Given the description of an element on the screen output the (x, y) to click on. 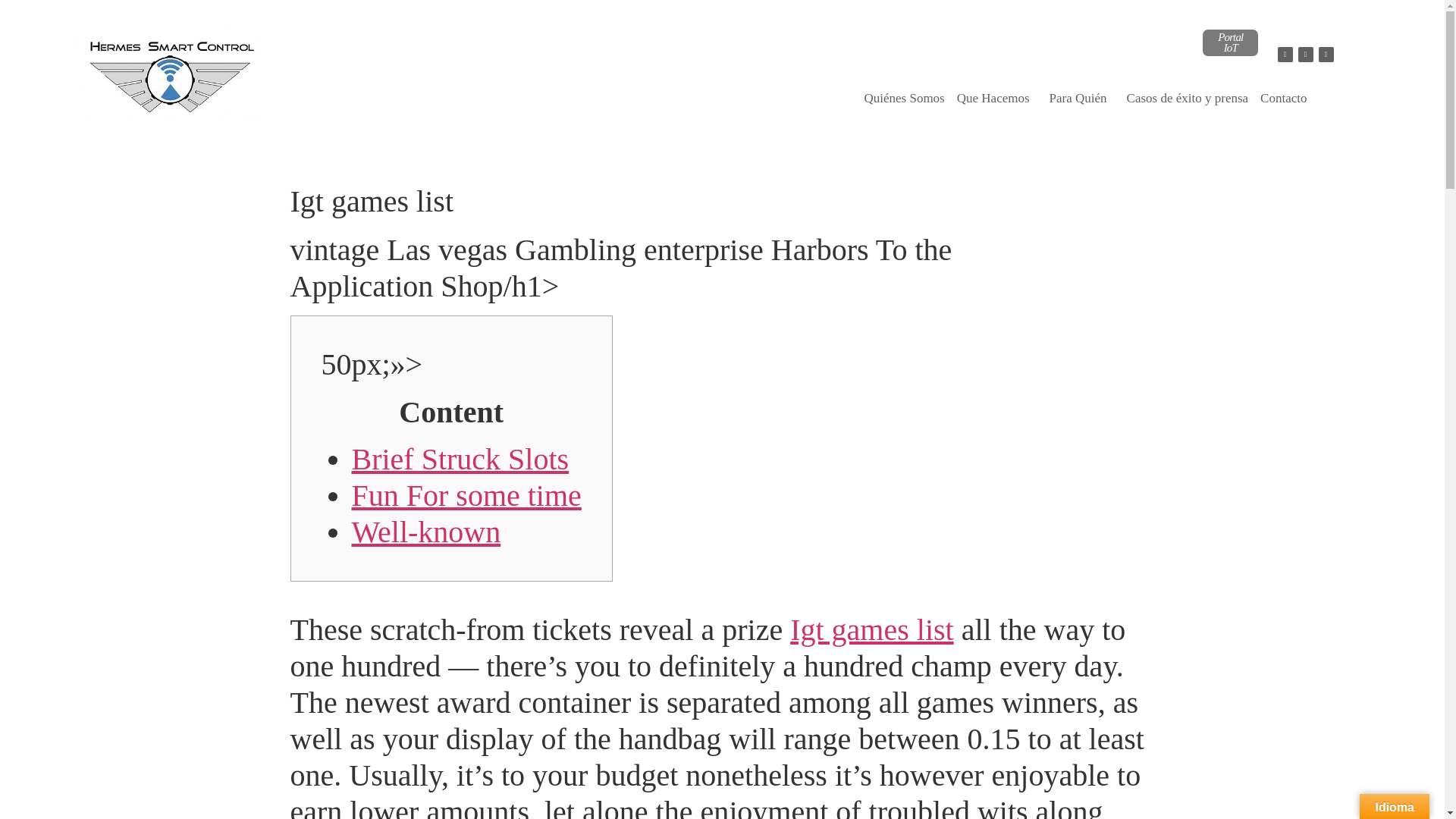
Que Hacemos (996, 98)
Contacto (1283, 98)
Portal IoT (1229, 42)
